Given the description of an element on the screen output the (x, y) to click on. 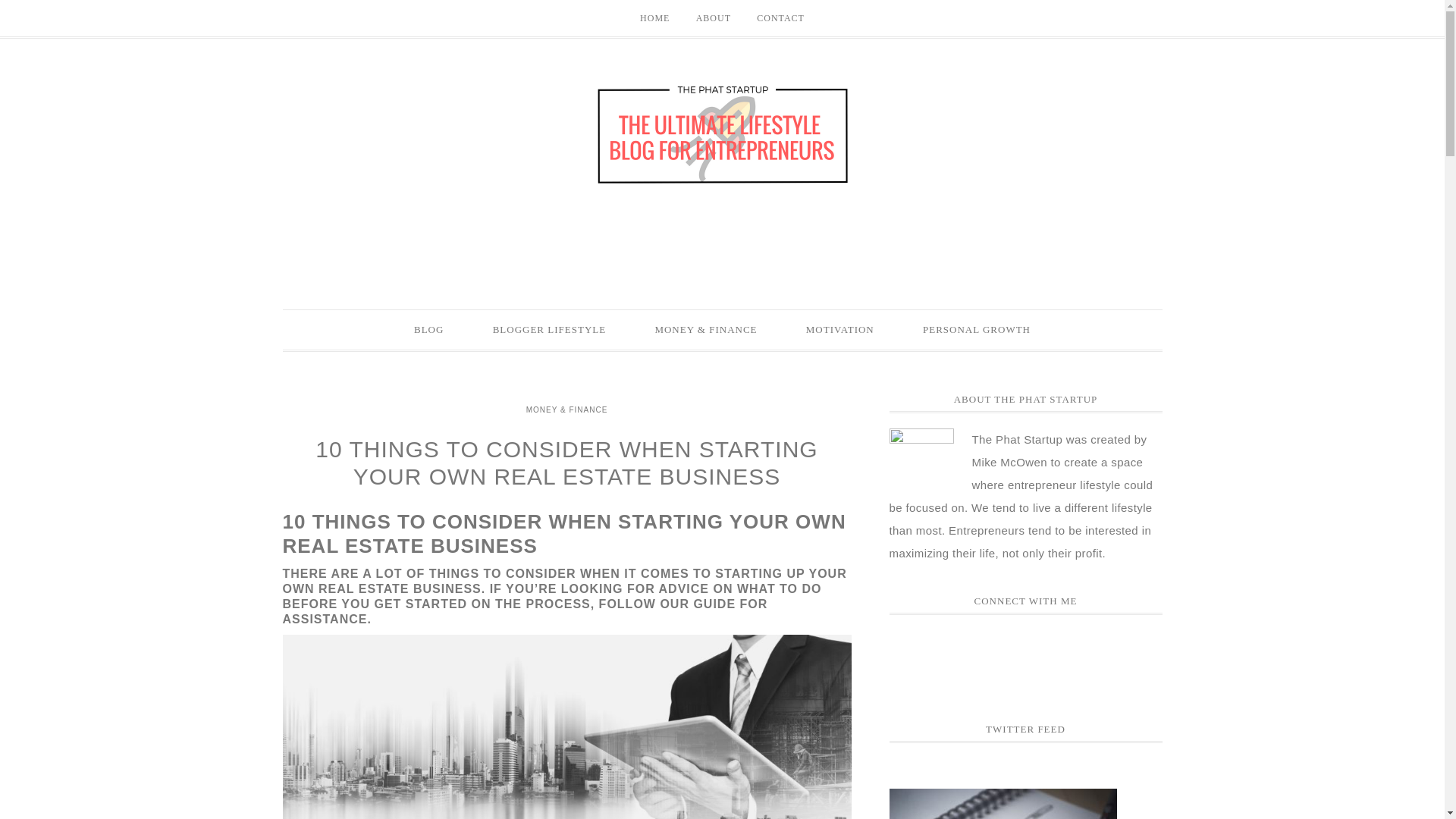
BLOGGER LIFESTYLE (549, 329)
CONTACT (780, 18)
THE PHAT STARTUP (721, 131)
HOME (654, 18)
BLOG (428, 329)
MOTIVATION (839, 329)
ABOUT (713, 18)
PERSONAL GROWTH (975, 329)
